Given the description of an element on the screen output the (x, y) to click on. 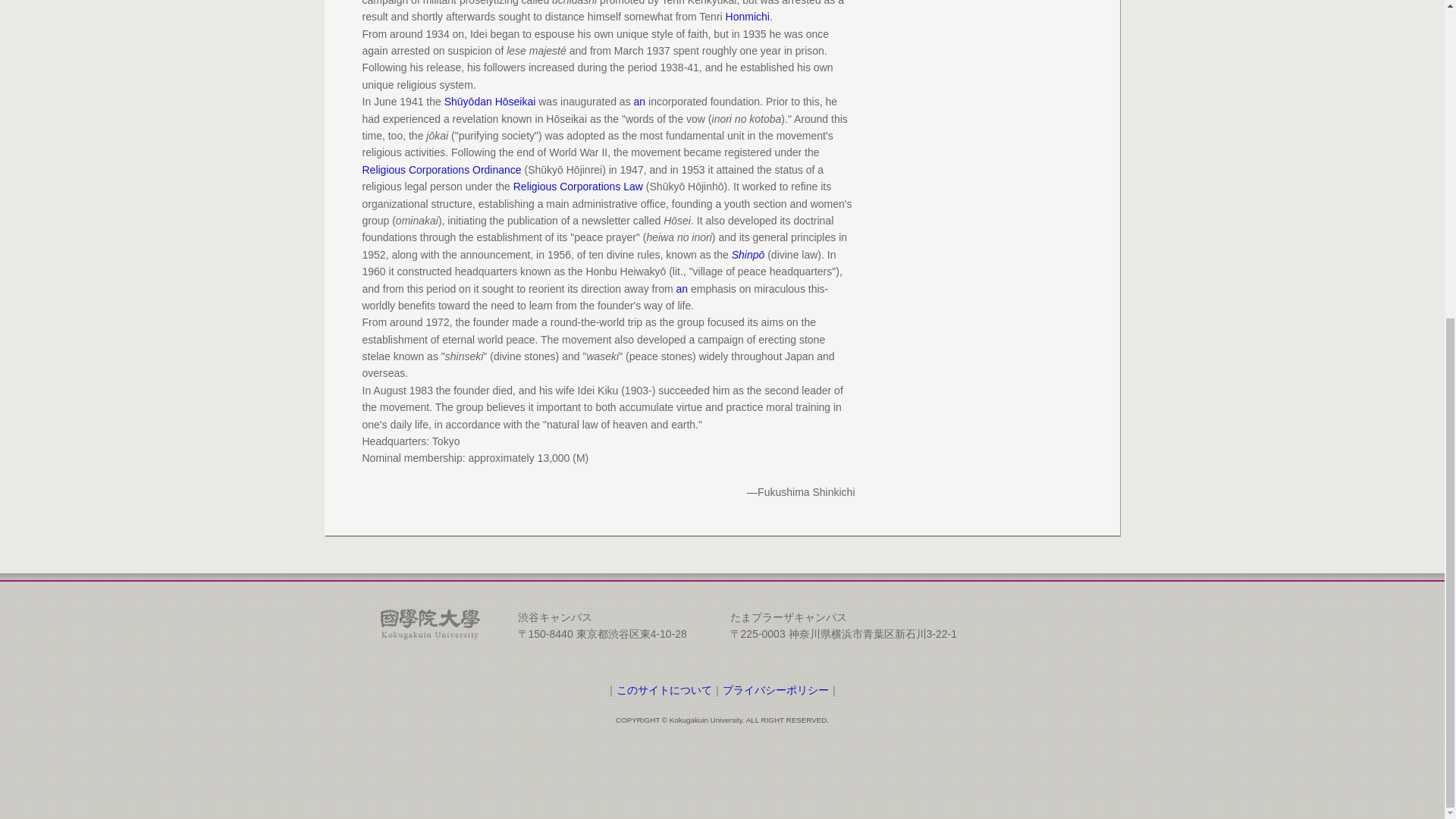
Religious Corporations Law (578, 186)
Honmichi (747, 16)
Religious Corporations Ordinance (441, 169)
an (681, 287)
an (639, 101)
